Given the description of an element on the screen output the (x, y) to click on. 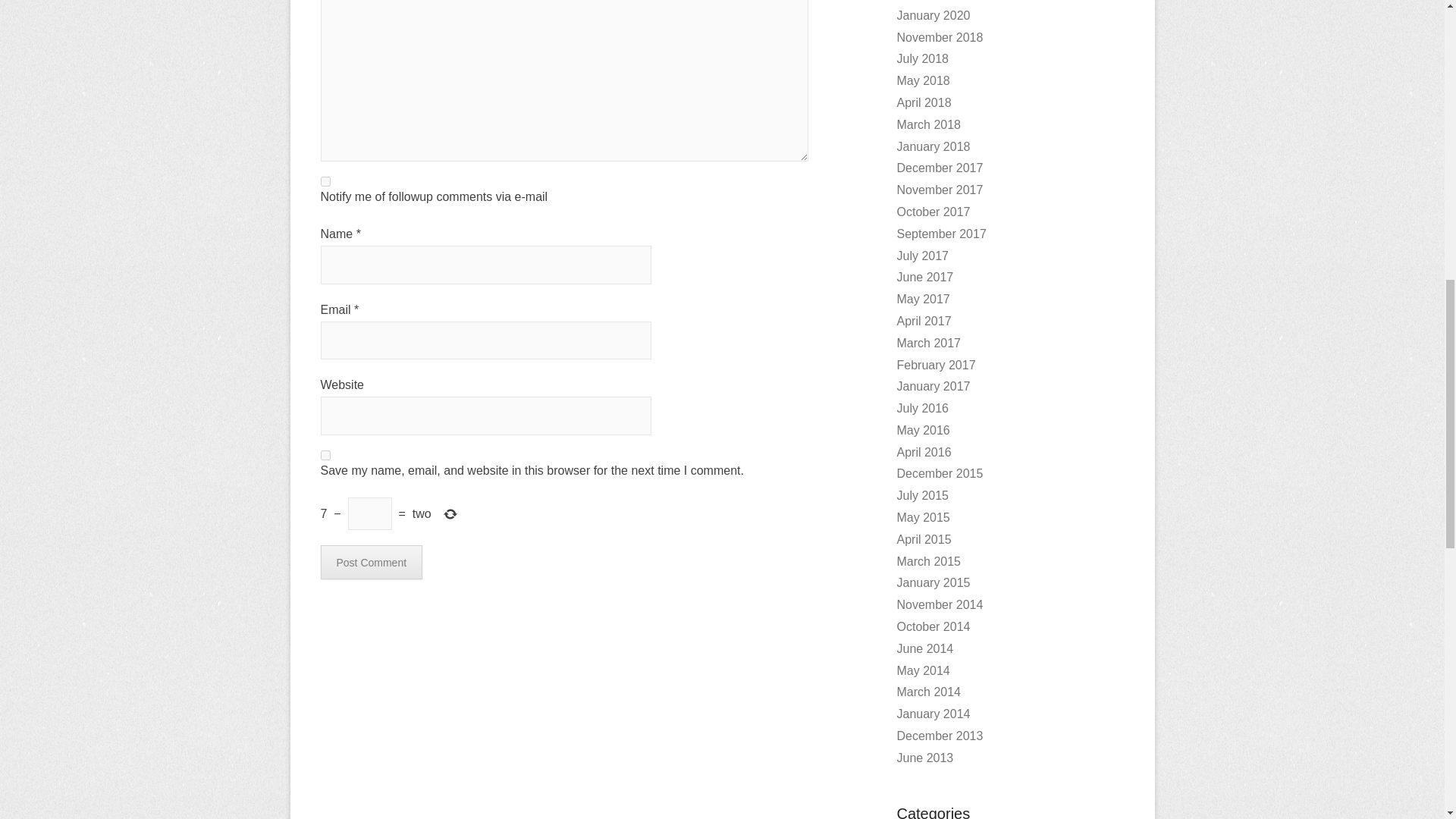
subscribe (325, 181)
yes (325, 455)
Post Comment (371, 562)
